Given the description of an element on the screen output the (x, y) to click on. 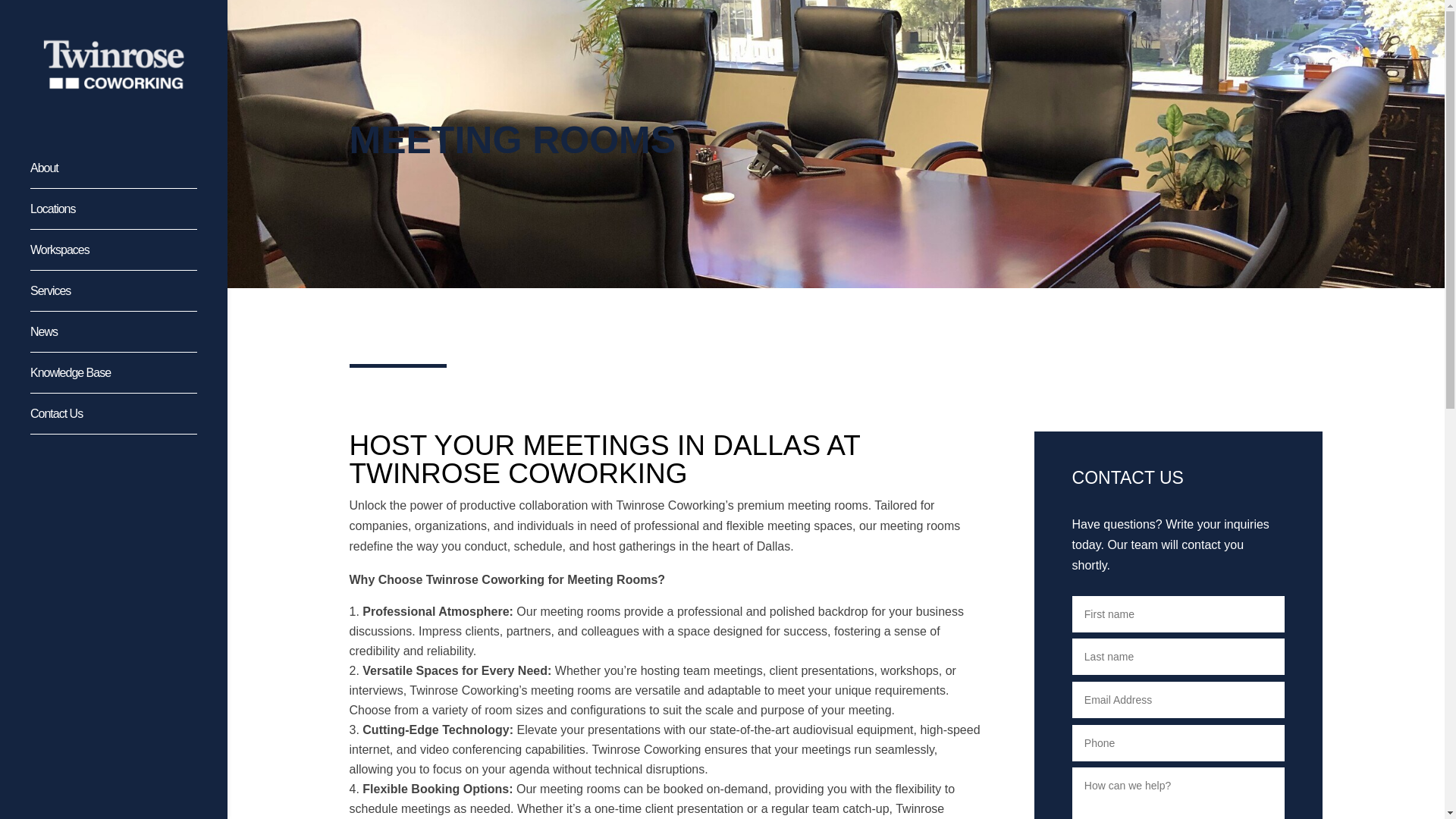
Locations (128, 216)
Contact Us (128, 421)
Workspaces (128, 257)
Services (128, 298)
Knowledge Base (128, 380)
About (128, 175)
News (128, 339)
